Given the description of an element on the screen output the (x, y) to click on. 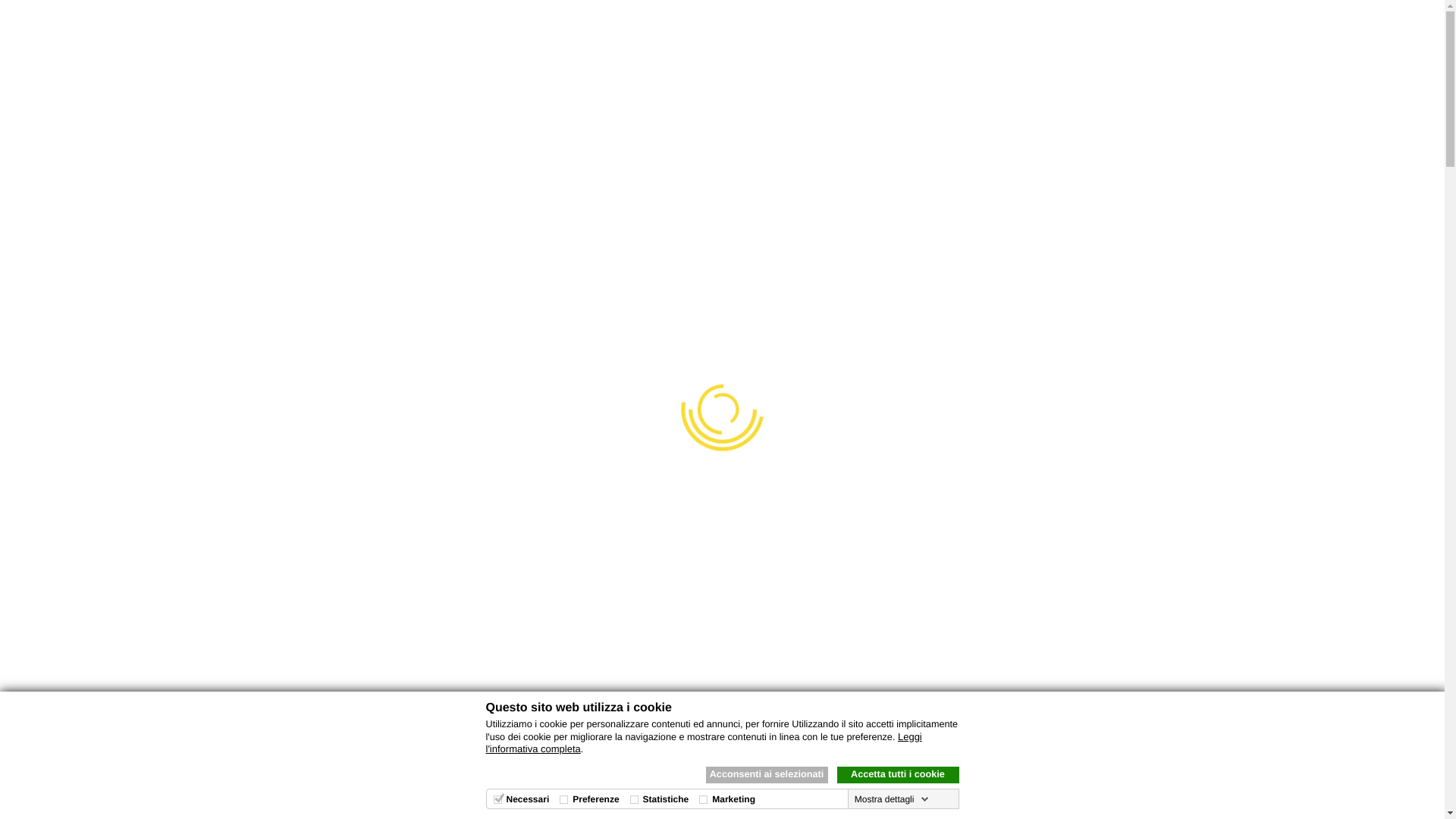
095 716 70 27 Element type: text (524, 30)
CONTATTI Element type: text (1059, 84)
Acconsenti ai selezionati Element type: text (766, 774)
Mostra dettagli Element type: text (891, 799)
RICHIEDI UNA DEMO GRATUITA Element type: text (944, 84)
Hotel.BB Element type: hover (722, 71)
HOME Element type: text (371, 83)
I NOSTRI SOFTWARE Element type: text (454, 83)
telefono Element type: hover (470, 31)
Leggi l'informativa completa Element type: text (703, 743)
Accetta tutti i cookie Element type: text (898, 774)
